Given the description of an element on the screen output the (x, y) to click on. 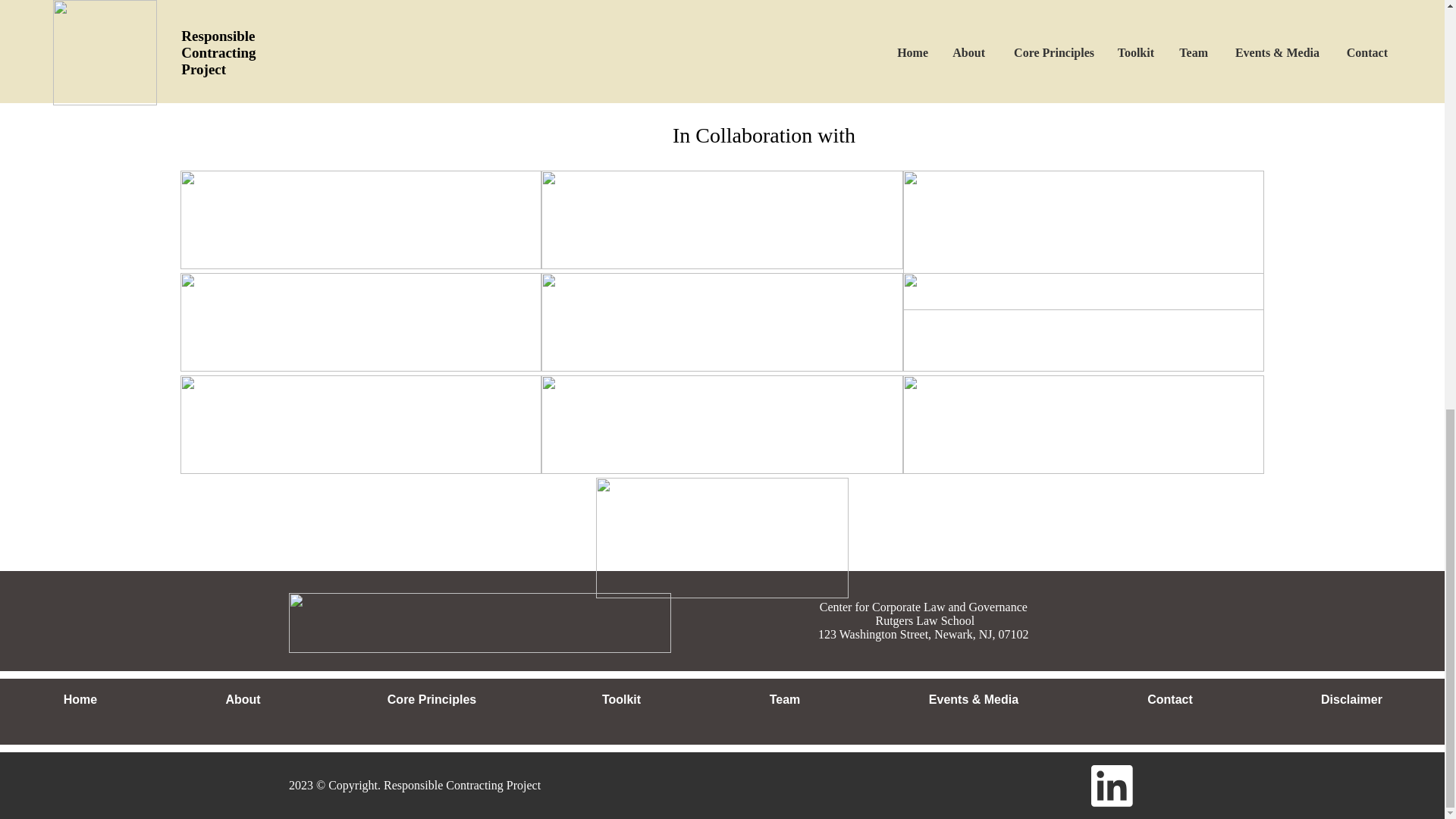
Contact (1169, 699)
Toolkit (620, 699)
Core Principles (431, 699)
Team (783, 699)
About (242, 699)
Home (80, 699)
